Given the description of an element on the screen output the (x, y) to click on. 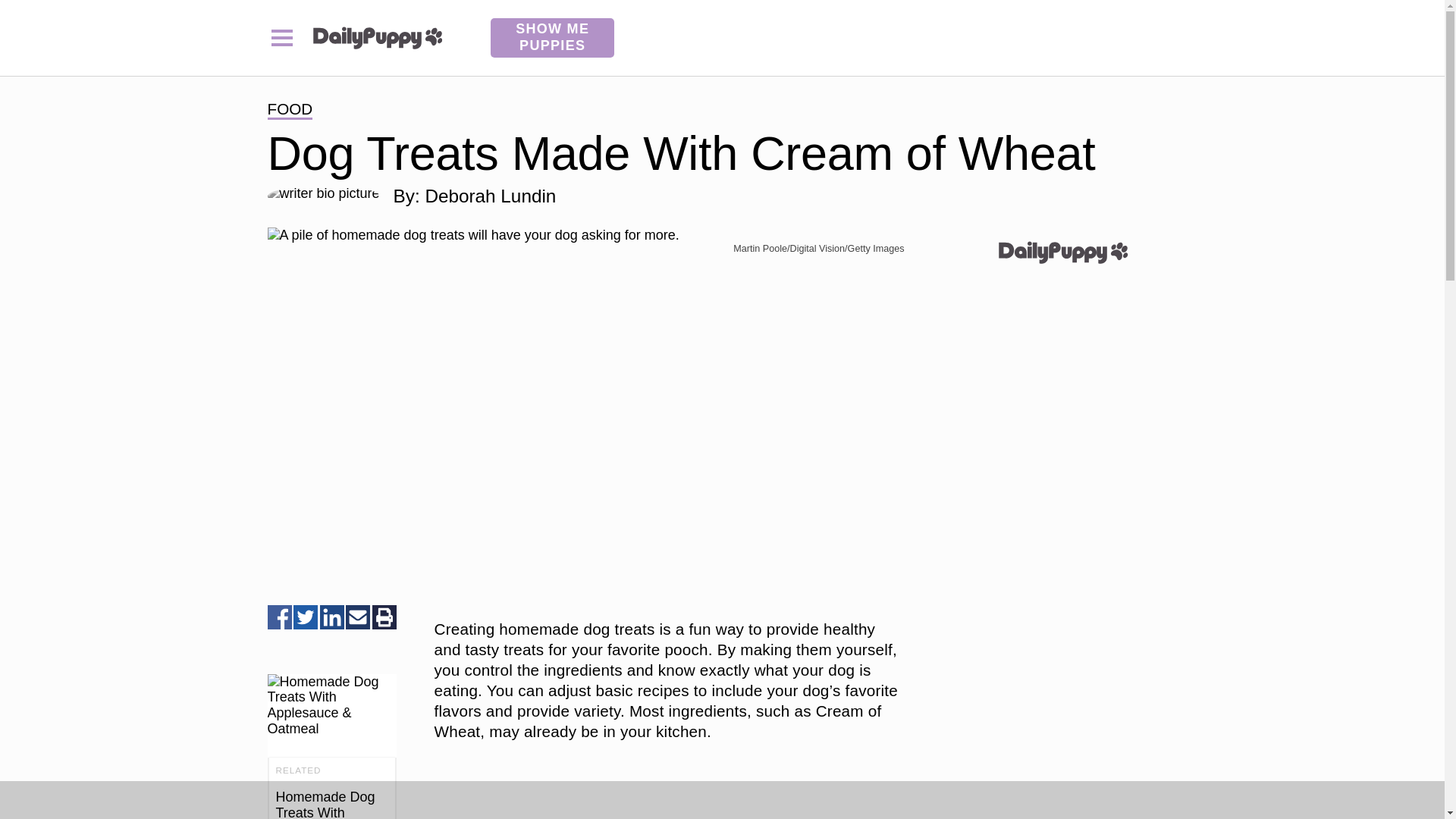
SHOW ME PUPPIES (552, 37)
